Given the description of an element on the screen output the (x, y) to click on. 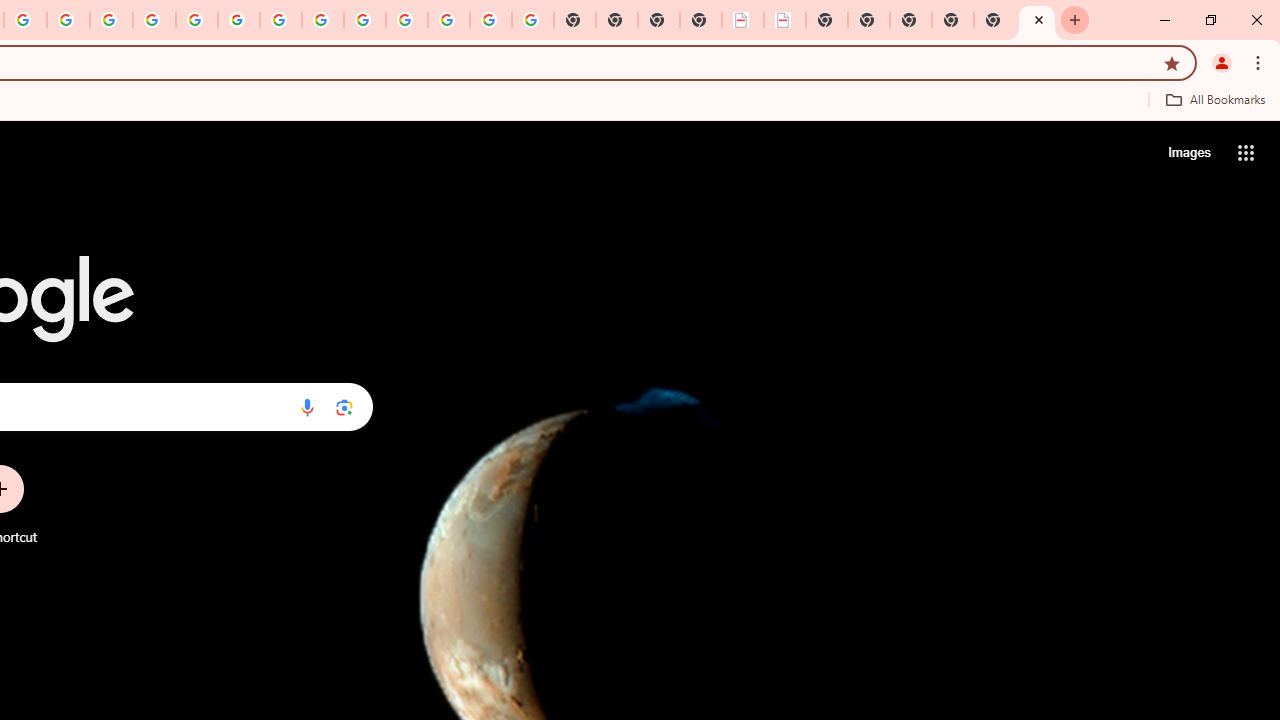
LAAD Defence & Security 2025 | BAE Systems (742, 20)
New Tab (1037, 20)
New Tab (952, 20)
New Tab (910, 20)
Google Images (533, 20)
Privacy Help Center - Policies Help (111, 20)
